Given the description of an element on the screen output the (x, y) to click on. 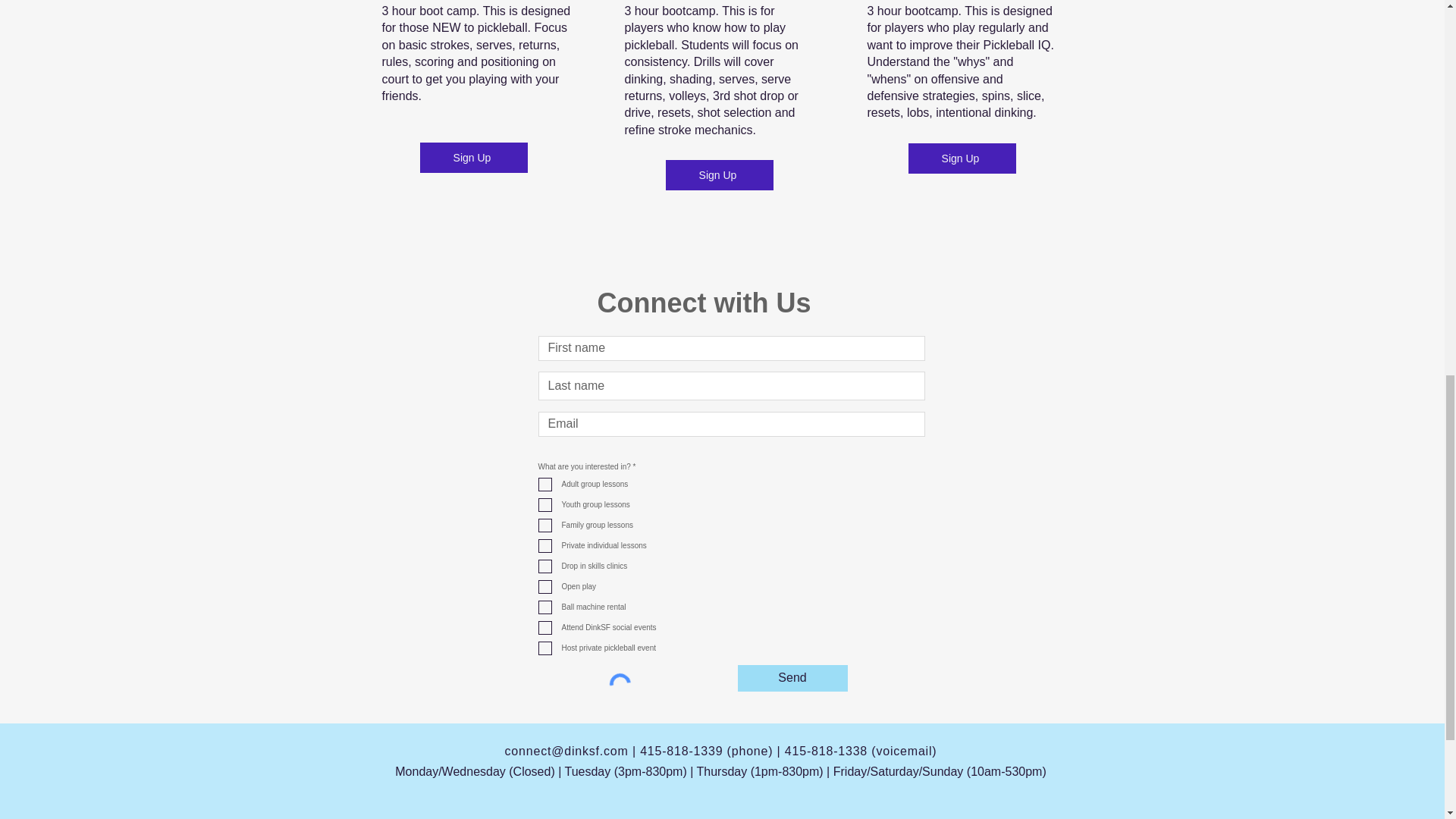
Sign Up (719, 174)
Sign Up (962, 158)
Send (791, 678)
Sign Up (473, 157)
